Given the description of an element on the screen output the (x, y) to click on. 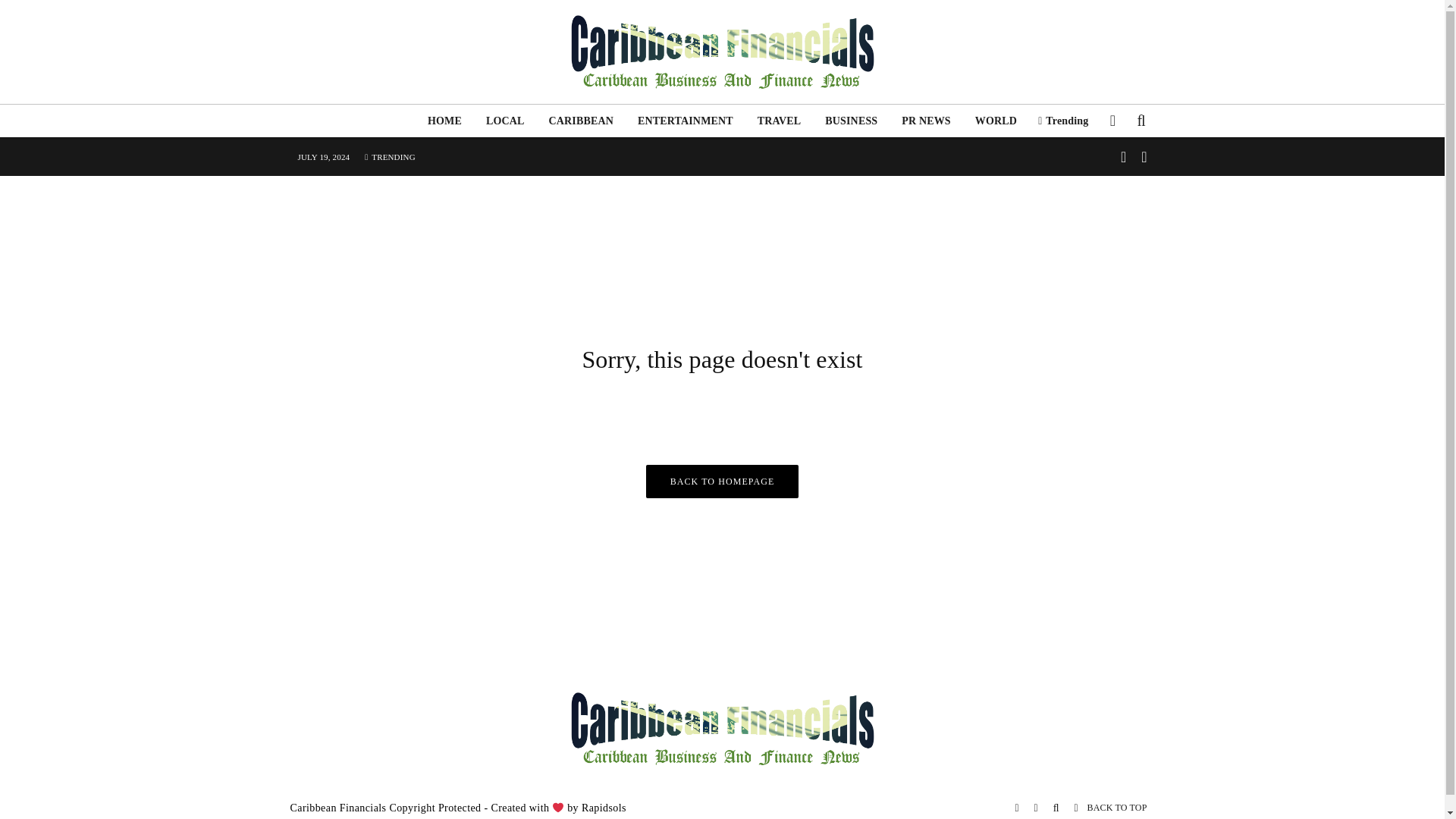
ENTERTAINMENT (685, 120)
CARIBBEAN (581, 120)
LOCAL (505, 120)
TRAVEL (779, 120)
HOME (444, 120)
